Given the description of an element on the screen output the (x, y) to click on. 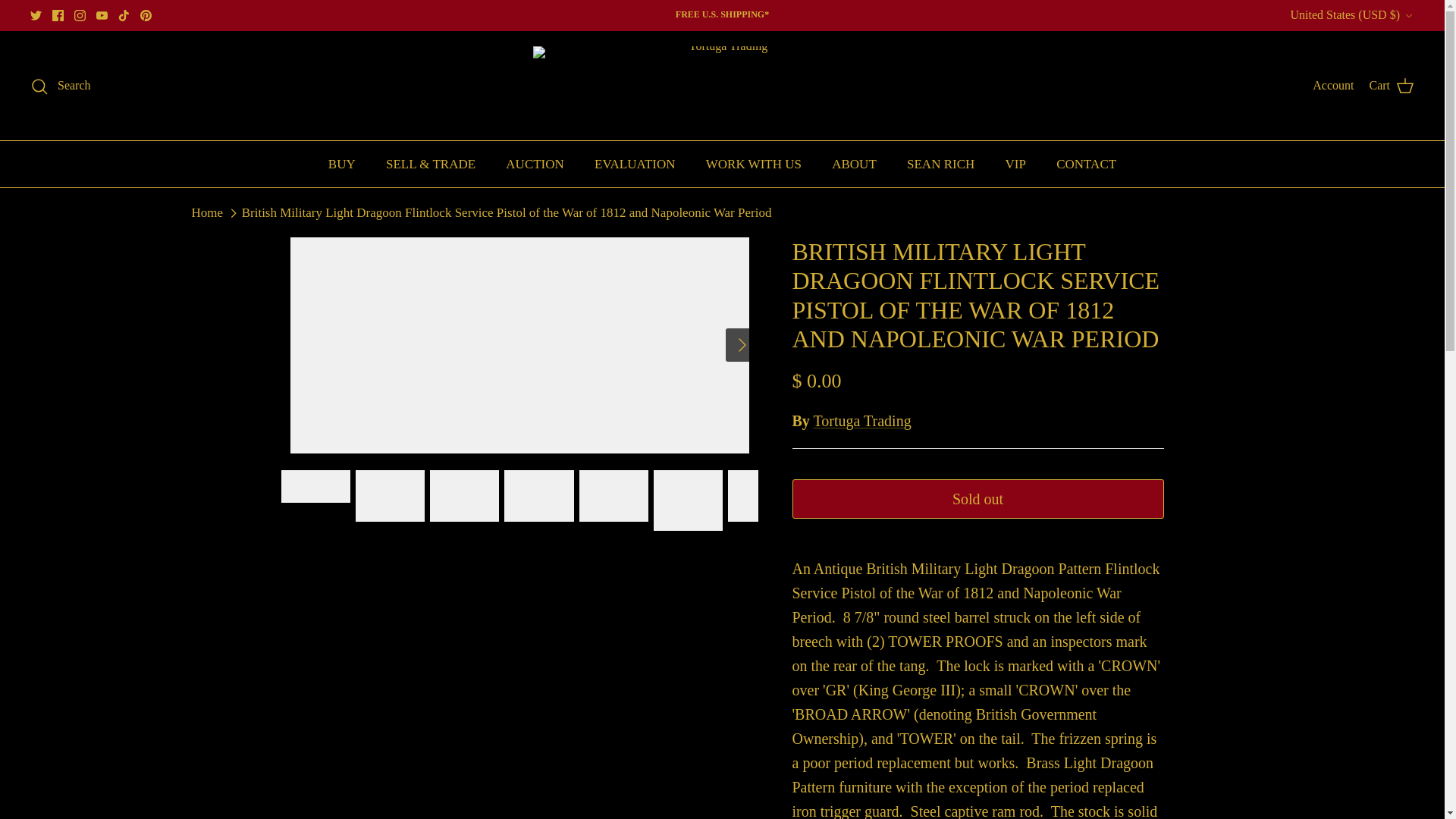
Down (1408, 15)
Search (60, 85)
Right (741, 344)
Pinterest (145, 15)
Tortuga Trading (721, 85)
Youtube (101, 15)
Twitter (36, 15)
Instagram (79, 15)
Facebook (58, 15)
Account (1333, 85)
